Given the description of an element on the screen output the (x, y) to click on. 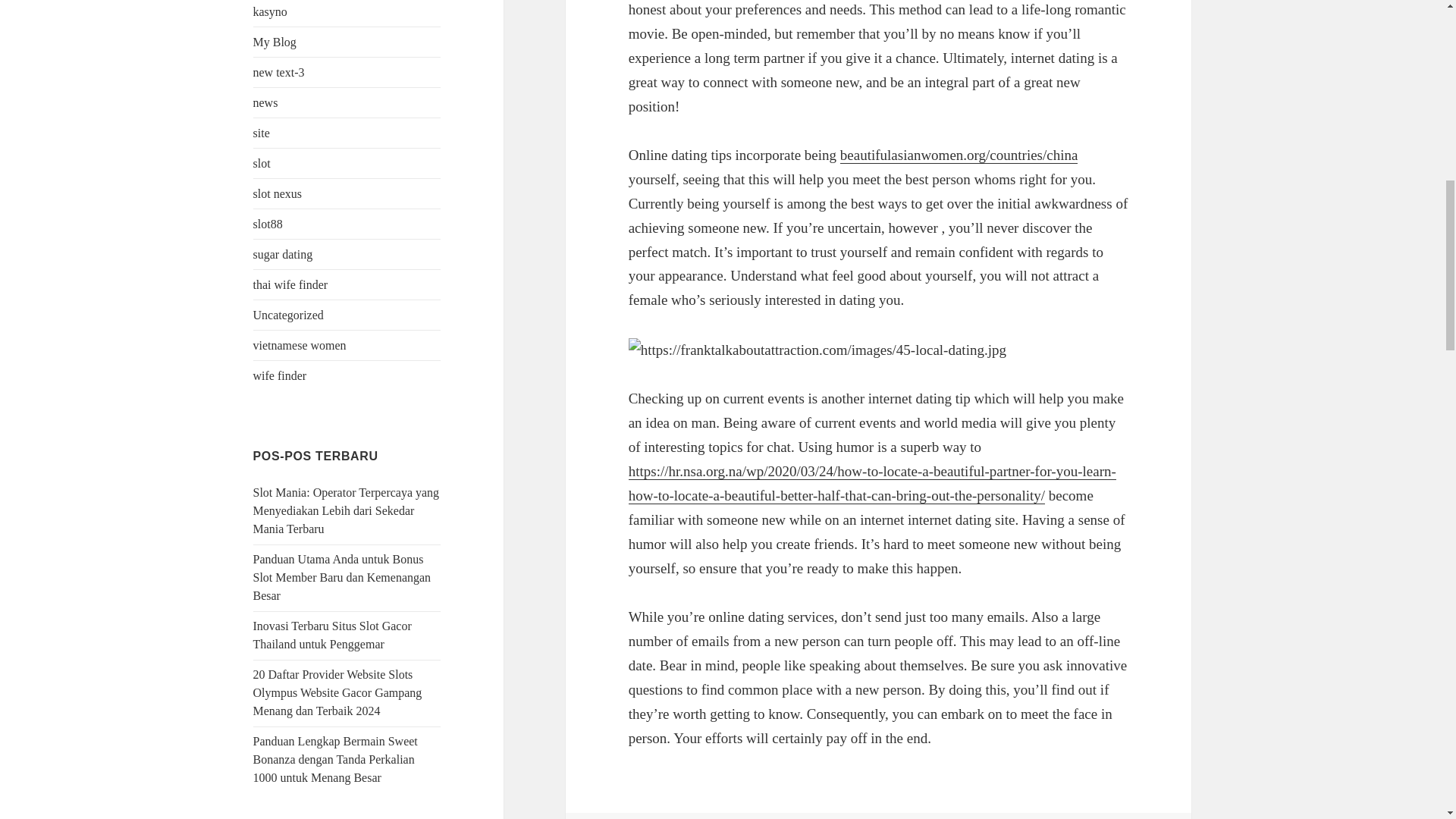
slot88 (267, 223)
new text-3 (278, 72)
vietnamese women (299, 345)
wife finder (280, 375)
kasyno (269, 11)
My Blog (275, 42)
thai wife finder (291, 284)
Inovasi Terbaru Situs Slot Gacor Thailand untuk Penggemar (332, 634)
